Given the description of an element on the screen output the (x, y) to click on. 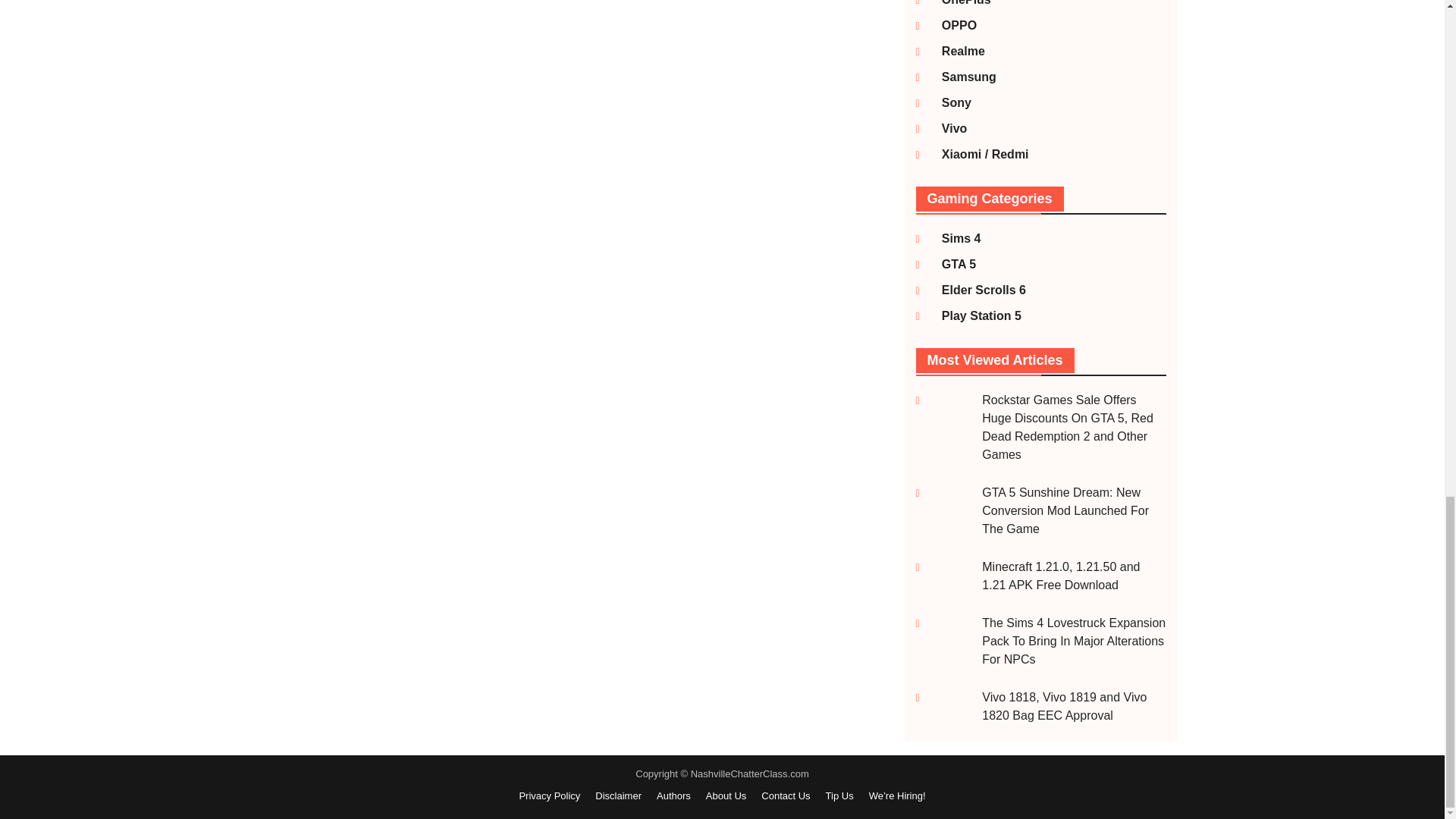
Comment Form (380, 156)
Vivo 1818, Vivo 1819 and Vivo 1820 Bag EEC Approval (1064, 706)
Minecraft 1.21.0, 1.21.50 and 1.21 APK Free Download (1060, 575)
